Given the description of an element on the screen output the (x, y) to click on. 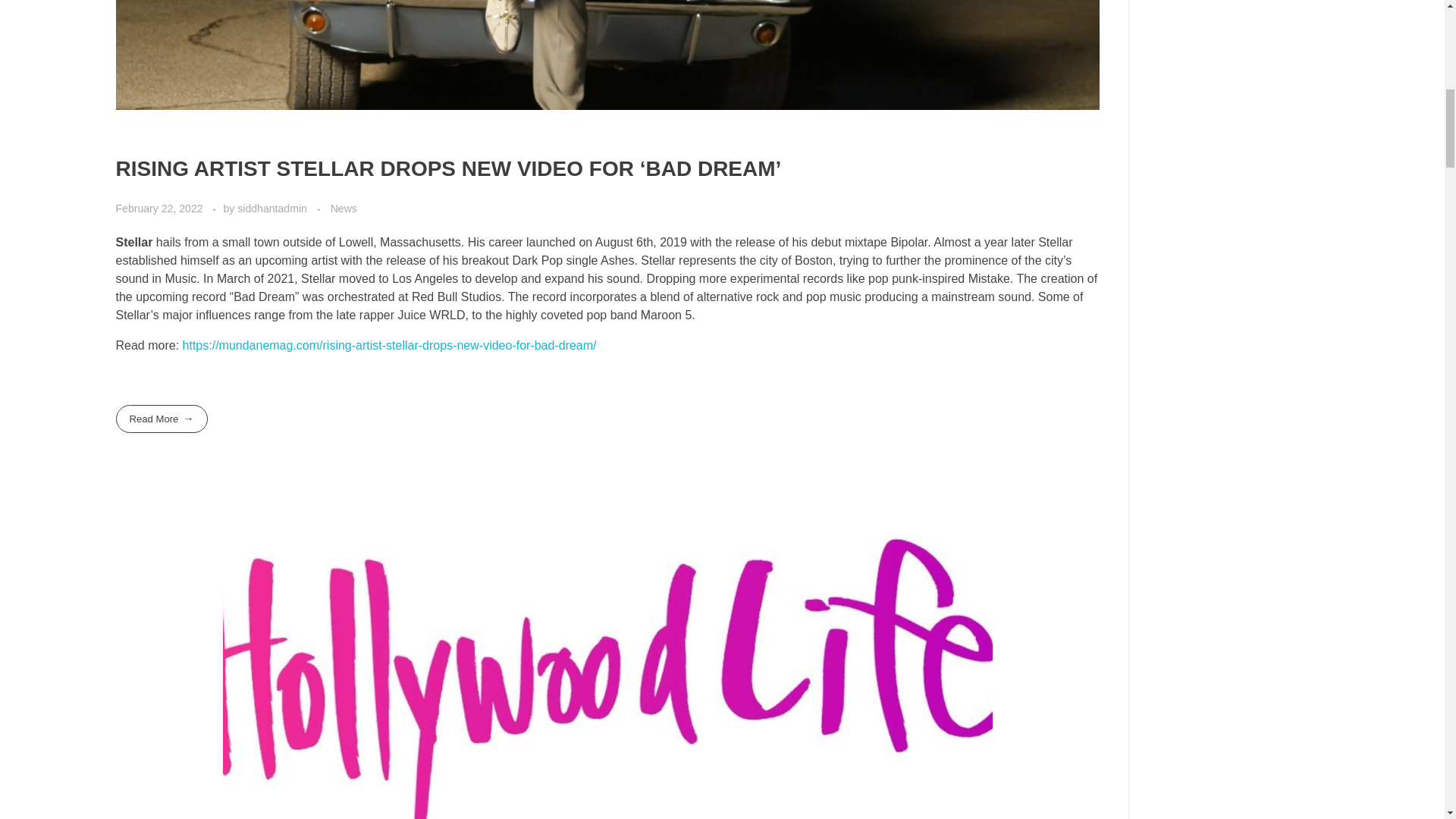
February 22, 2022 (160, 208)
News (343, 208)
View all posts by siddhantadmin (272, 208)
Read More (160, 418)
View all posts in News (343, 208)
siddhantadmin (272, 208)
